Given the description of an element on the screen output the (x, y) to click on. 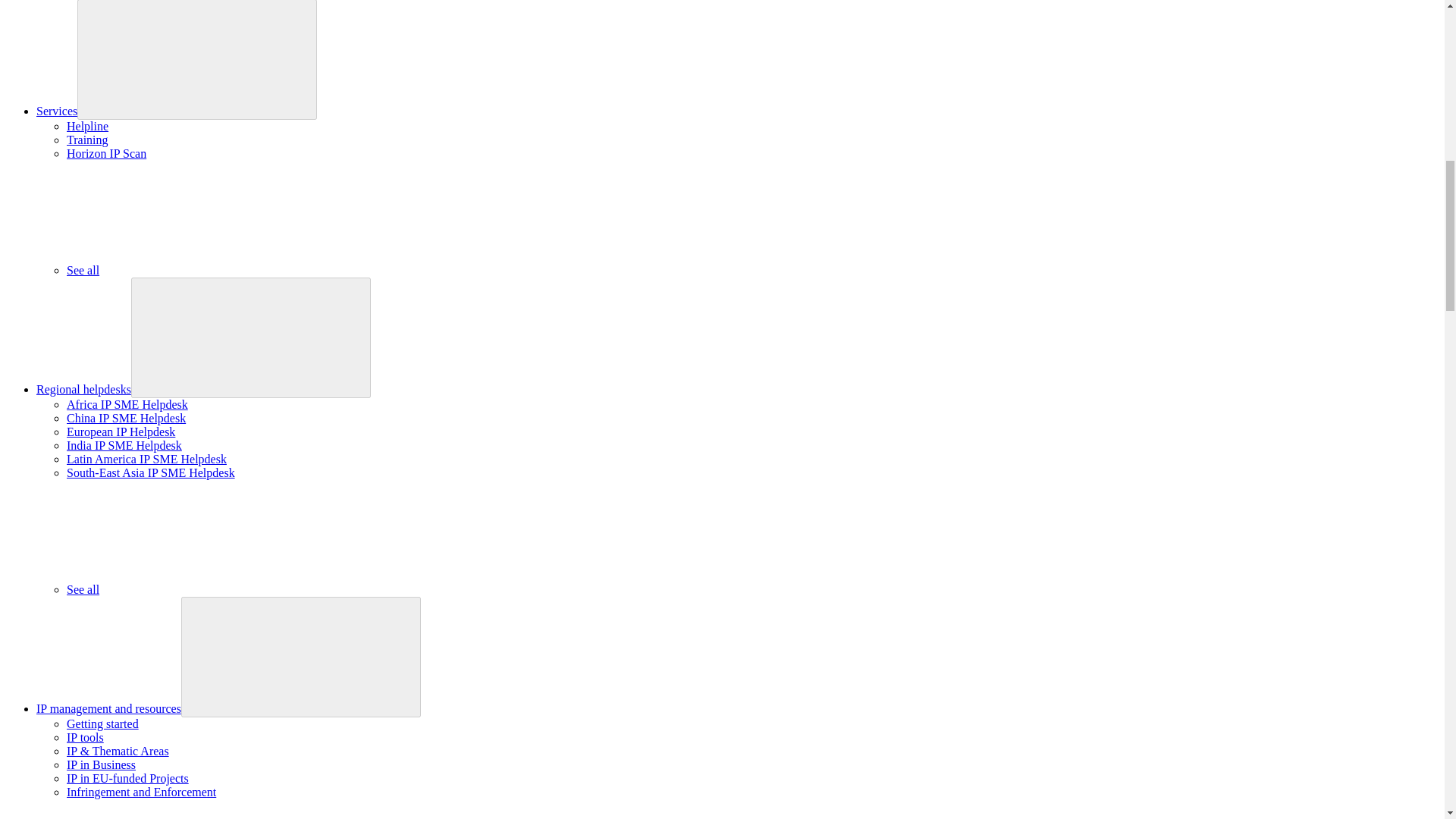
Services (56, 110)
South-East Asia IP SME Helpdesk (150, 472)
Helpline (86, 125)
Africa IP SME Helpdesk (126, 404)
Horizon IP Scan (106, 153)
Getting started (102, 723)
IP in Business (100, 764)
India IP SME Helpdesk (124, 445)
Regional helpdesks (83, 389)
IP in EU-funded Projects (127, 778)
